Given the description of an element on the screen output the (x, y) to click on. 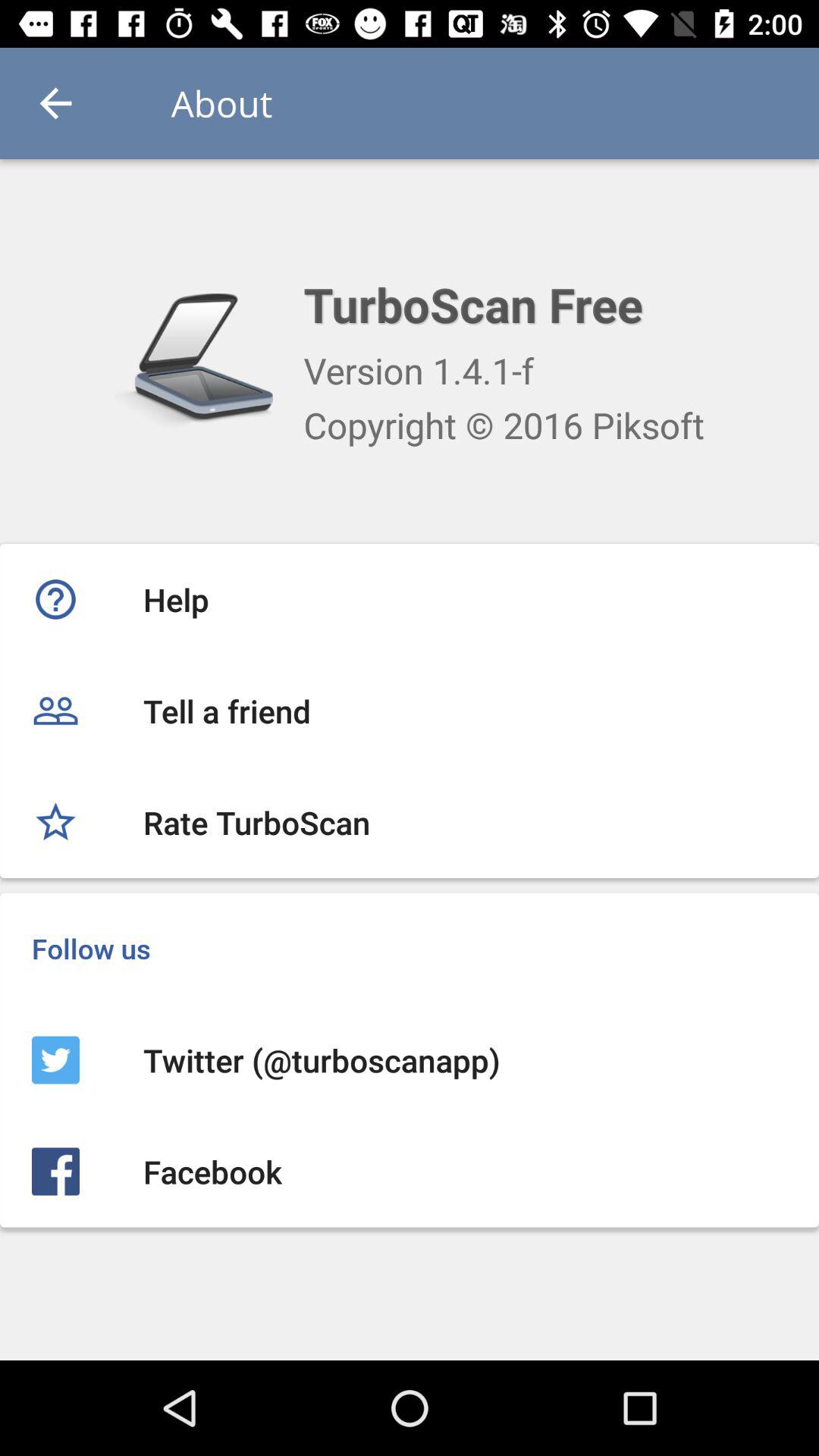
turn off the item below the tell a friend icon (409, 822)
